Given the description of an element on the screen output the (x, y) to click on. 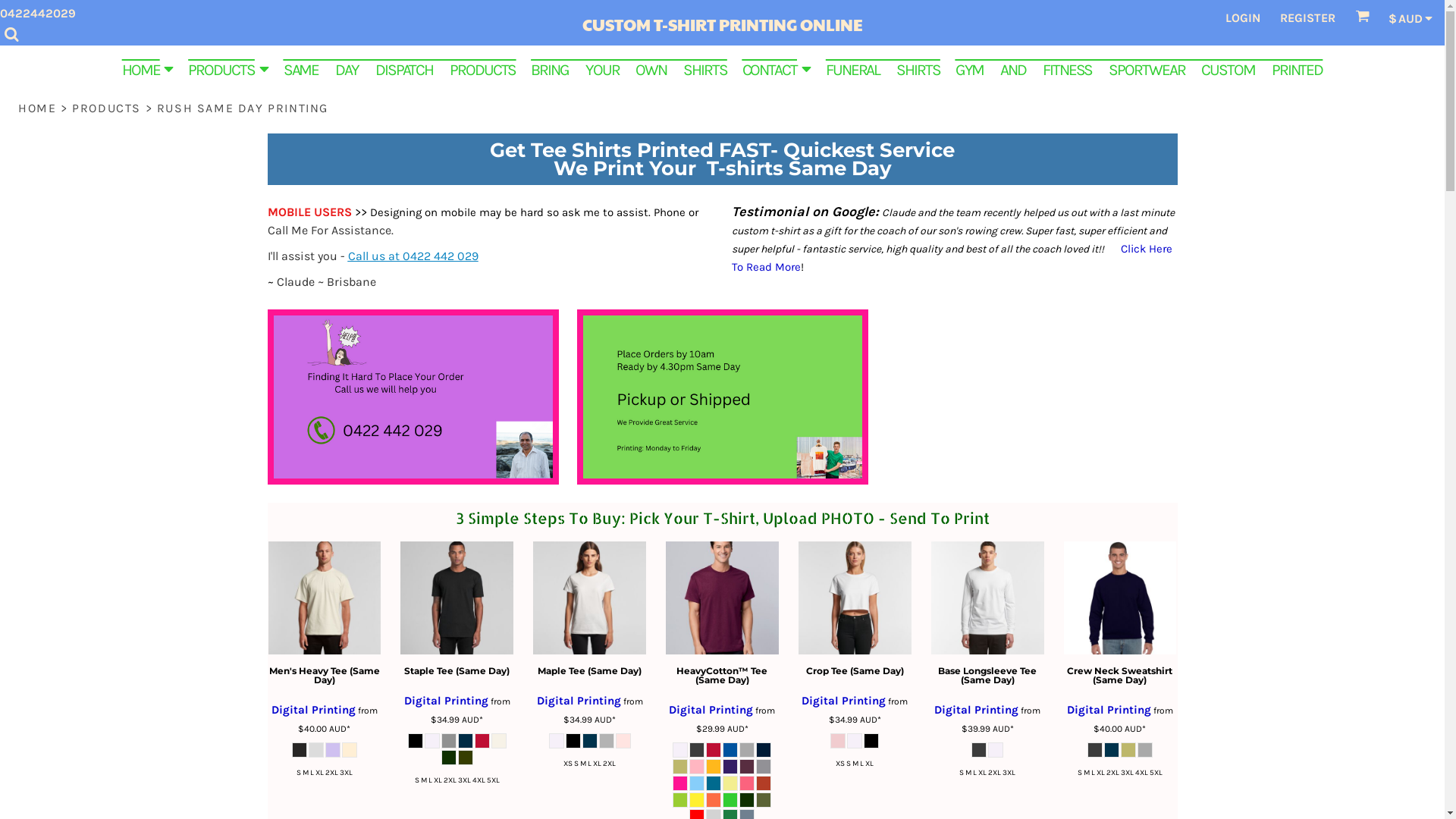
Claude Element type: text (294, 281)
Digital Printing Element type: text (446, 700)
Digital Printing Element type: text (710, 709)
PRODUCTS Element type: text (227, 68)
Digital Printing Element type: text (1108, 709)
FUNERAL SHIRTS Element type: text (882, 68)
LOGIN Element type: text (1242, 17)
Digital Printing Element type: text (578, 700)
as Element type: text (11, 7)
Digital Printing Element type: text (313, 709)
SAME DAY DISPATCH PRODUCTS Element type: text (399, 68)
Digital Printing Element type: text (976, 709)
Digital Printing Element type: text (843, 700)
Crop Tee (Same Day) Element type: text (854, 670)
Staple Tee (Same Day) Element type: text (456, 670)
Base Longsleeve Tee (Same Day) Element type: text (987, 675)
BRING YOUR OWN SHIRTS Element type: text (628, 68)
AS Colour Crop Tee (Same Day) SAMEDAY, 4062 CROP TEE Element type: hover (854, 597)
PRODUCTS Element type: text (106, 107)
Men's Heavy Tee (Same Day) Element type: text (324, 675)
Crew Neck Sweatshirt (Same Day) Element type: text (1119, 675)
AS Colour Base Longsleeve Tee (Same Day) SAMEDAY, Base 5029 Element type: hover (987, 597)
HOME Element type: text (37, 107)
Click Here To Read More Element type: text (951, 257)
AS Colour Maple Tee (Same Day) SAMEDAY, Maple 4001 Element type: hover (589, 597)
GYM AND FITNESS SPORTWEAR CUSTOM PRINTED Element type: text (1139, 68)
Maple Tee (Same Day) Element type: text (589, 670)
HOME Element type: text (147, 68)
AS Colour Staple Tee (Same Day) SAMEDAY, Staple Tee 5001 Element type: hover (456, 597)
CUSTOM T-SHIRT PRINTING ONLINE Element type: text (721, 22)
CONTACT Element type: text (776, 68)
Call us at 0422 442 029 Element type: text (412, 255)
REGISTER Element type: text (1307, 17)
